Given the description of an element on the screen output the (x, y) to click on. 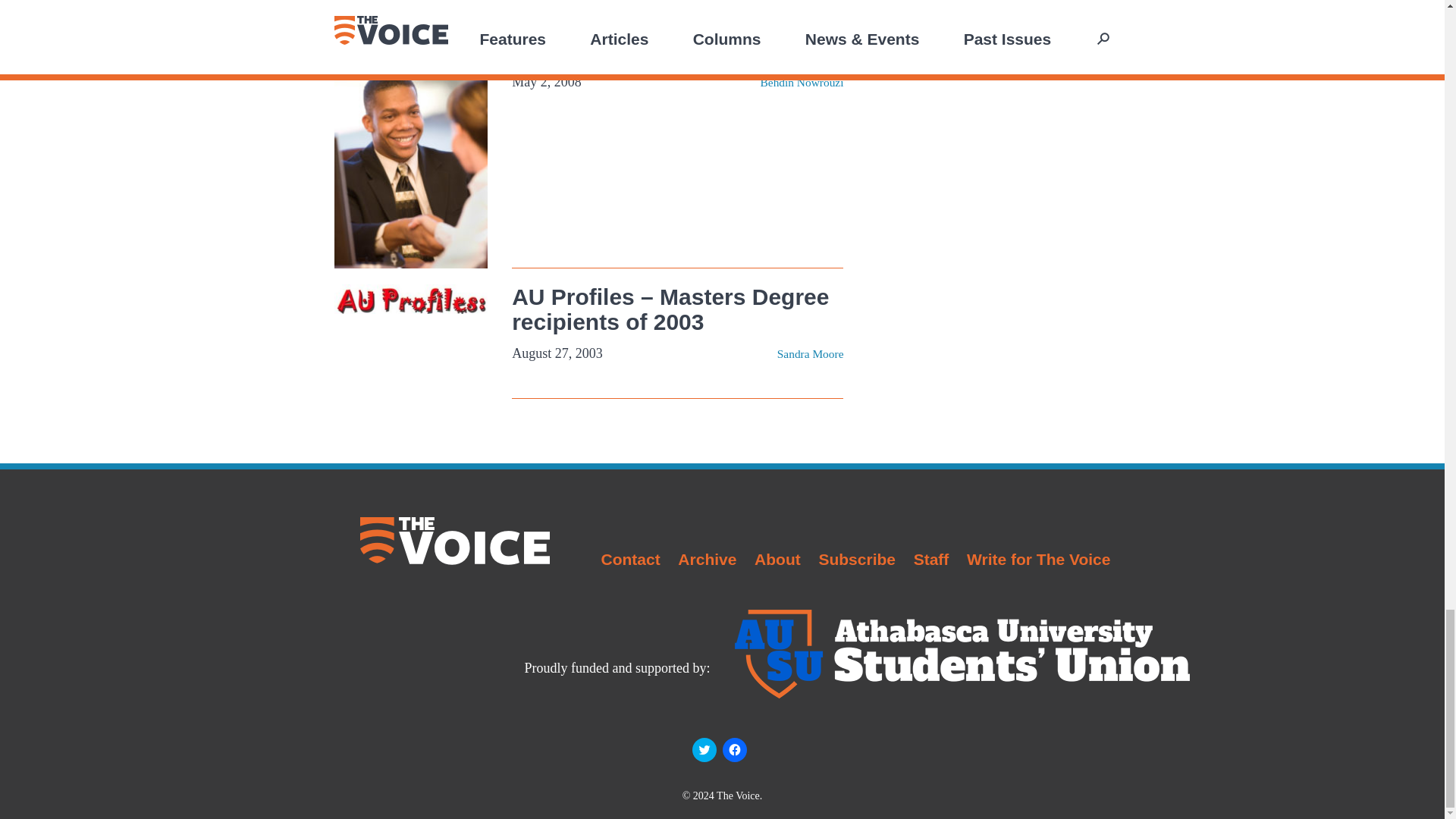
Sandra Moore (810, 353)
Posts by Behdin Nowrouzi (802, 82)
Behdin Nowrouzi (802, 82)
Posts by Sandra Moore (810, 353)
